Given the description of an element on the screen output the (x, y) to click on. 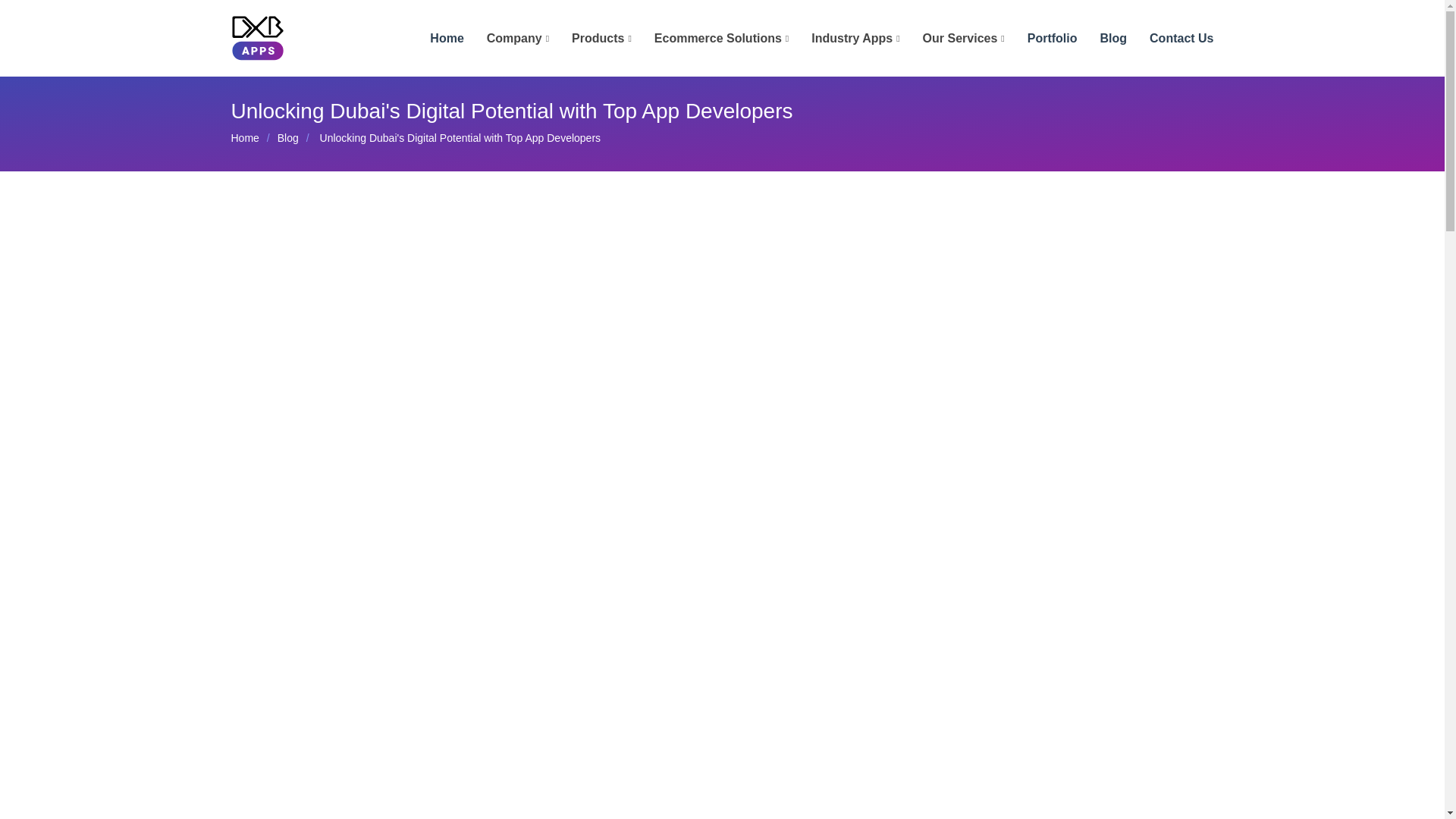
Home (435, 38)
Company (506, 38)
Ecommerce Solutions (710, 38)
Products (589, 38)
Industry Apps (844, 38)
Our Services (951, 38)
